Given the description of an element on the screen output the (x, y) to click on. 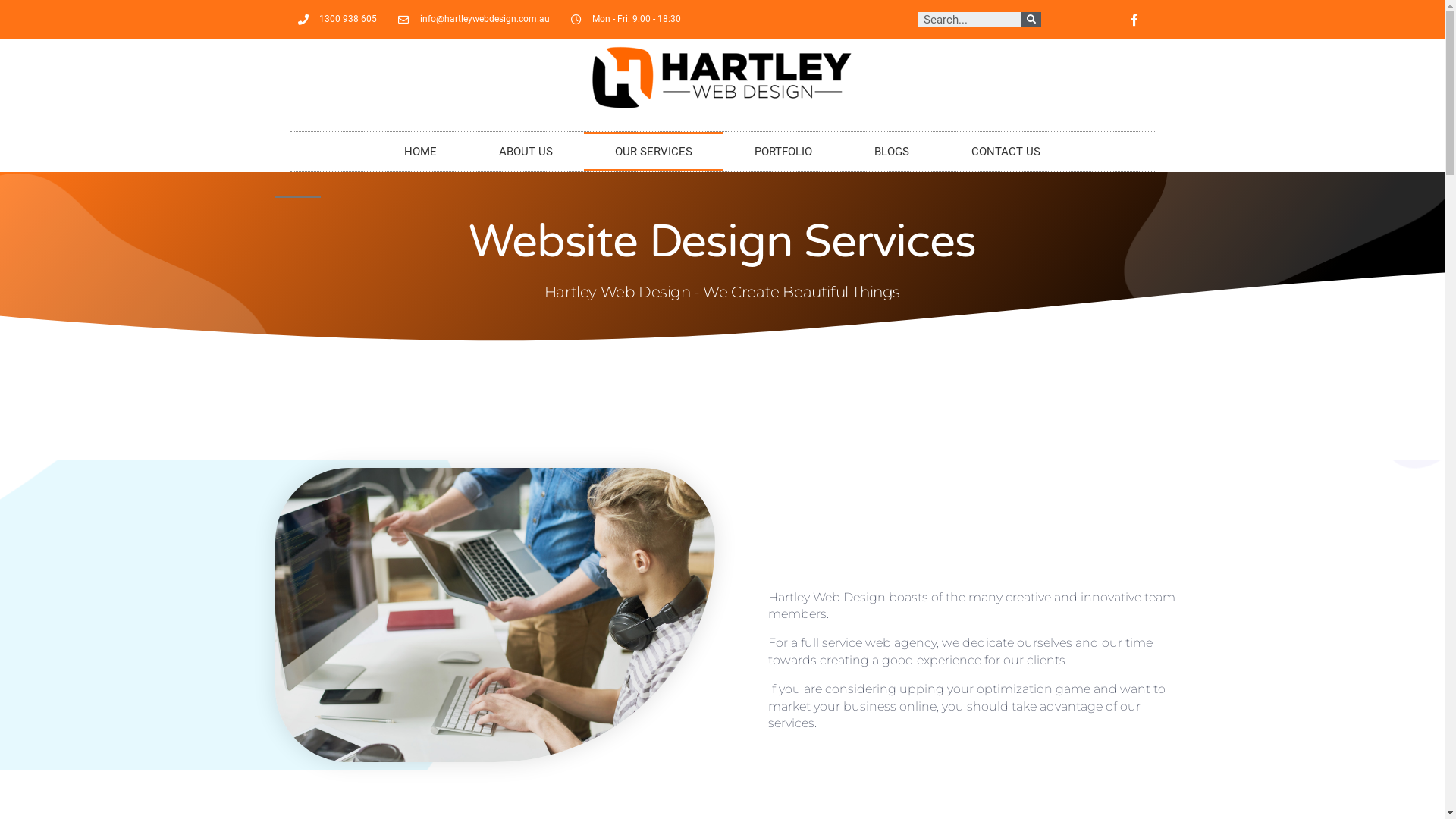
PORTFOLIO Element type: text (783, 151)
CONTACT US Element type: text (1005, 151)
BLOGS Element type: text (891, 151)
OUR SERVICES Element type: text (653, 151)
ABOUT US Element type: text (525, 151)
HOME Element type: text (420, 151)
Search Element type: hover (1031, 19)
Search Element type: hover (969, 19)
